Given the description of an element on the screen output the (x, y) to click on. 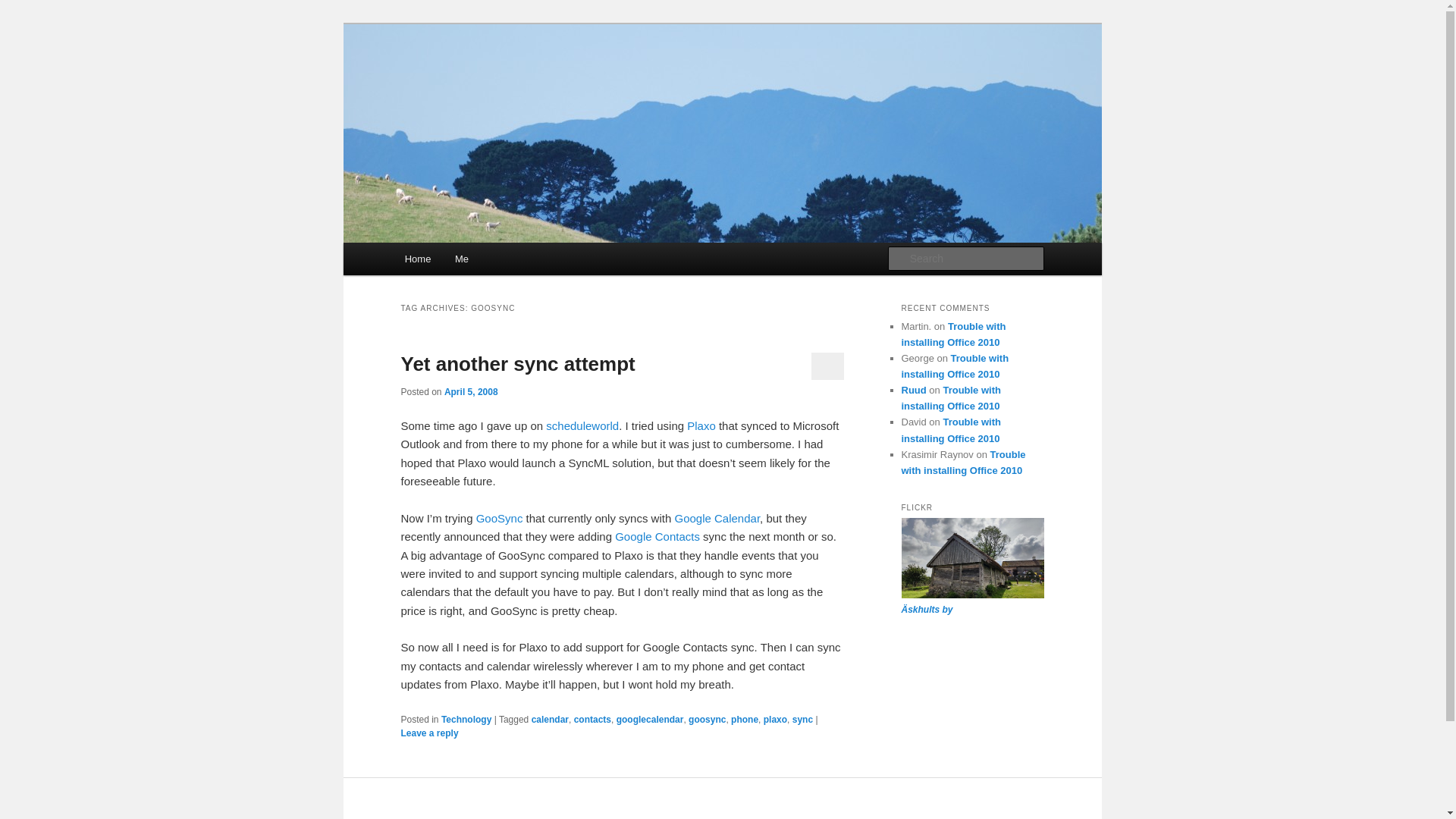
Trouble with installing Office 2010 (953, 334)
Trouble with installing Office 2010 (955, 366)
Ruud (913, 389)
Trouble with installing Office 2010 (963, 461)
Google Contacts (657, 535)
Google Calendar (717, 517)
Google Contacts (657, 535)
googlecalendar (649, 719)
scheduleworld (582, 425)
Technology (466, 719)
Search (24, 8)
Home (417, 258)
Trouble with installing Office 2010 (950, 397)
sync (802, 719)
Trouble with installing Office 2010 (951, 429)
